Given the description of an element on the screen output the (x, y) to click on. 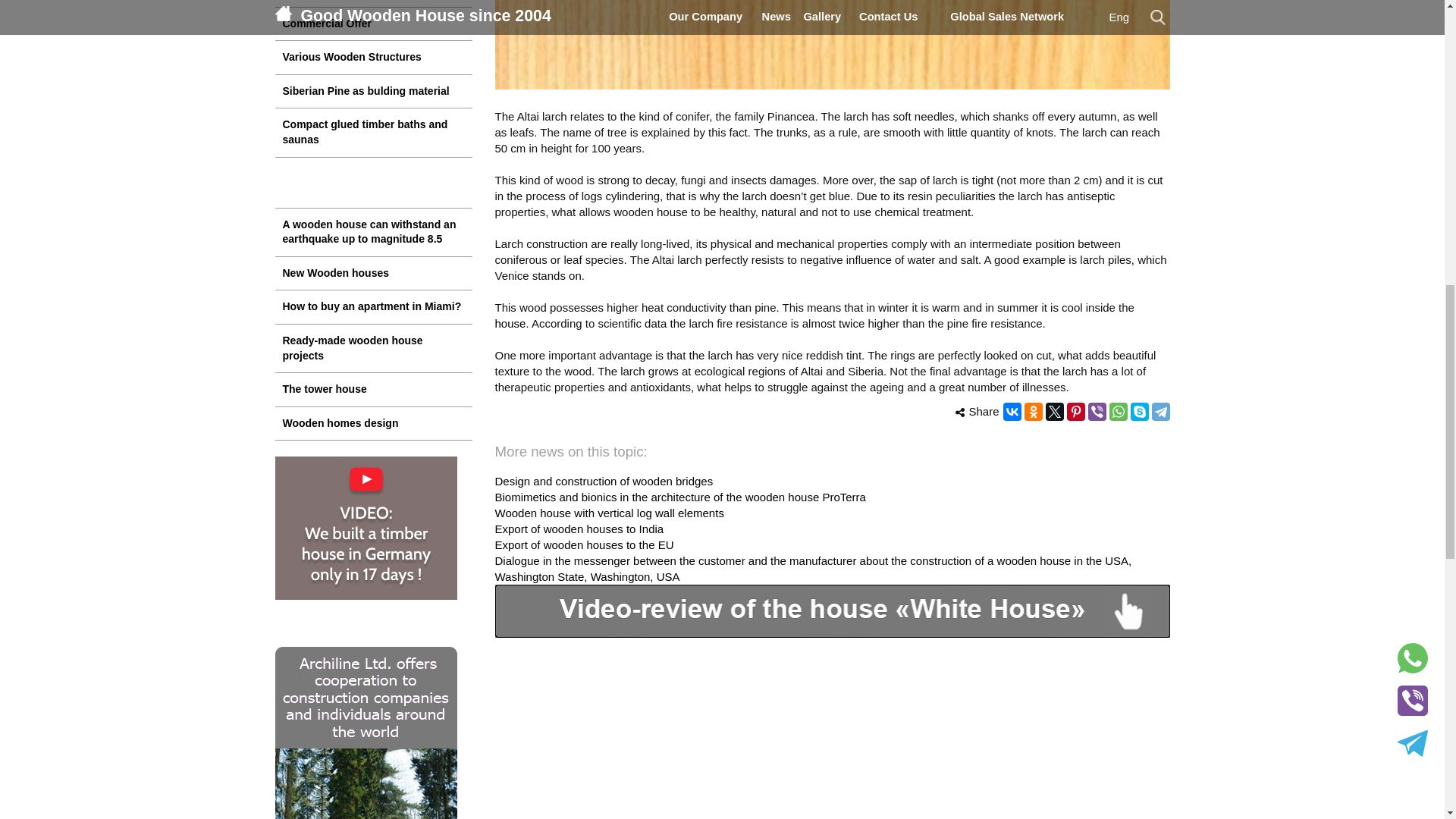
Viber (1096, 411)
Pinterest (1074, 411)
Twitter (1053, 411)
WhatsApp (1117, 411)
Skype (1138, 411)
Telegram (1160, 411)
Construction of a wooden house (373, 3)
